Given the description of an element on the screen output the (x, y) to click on. 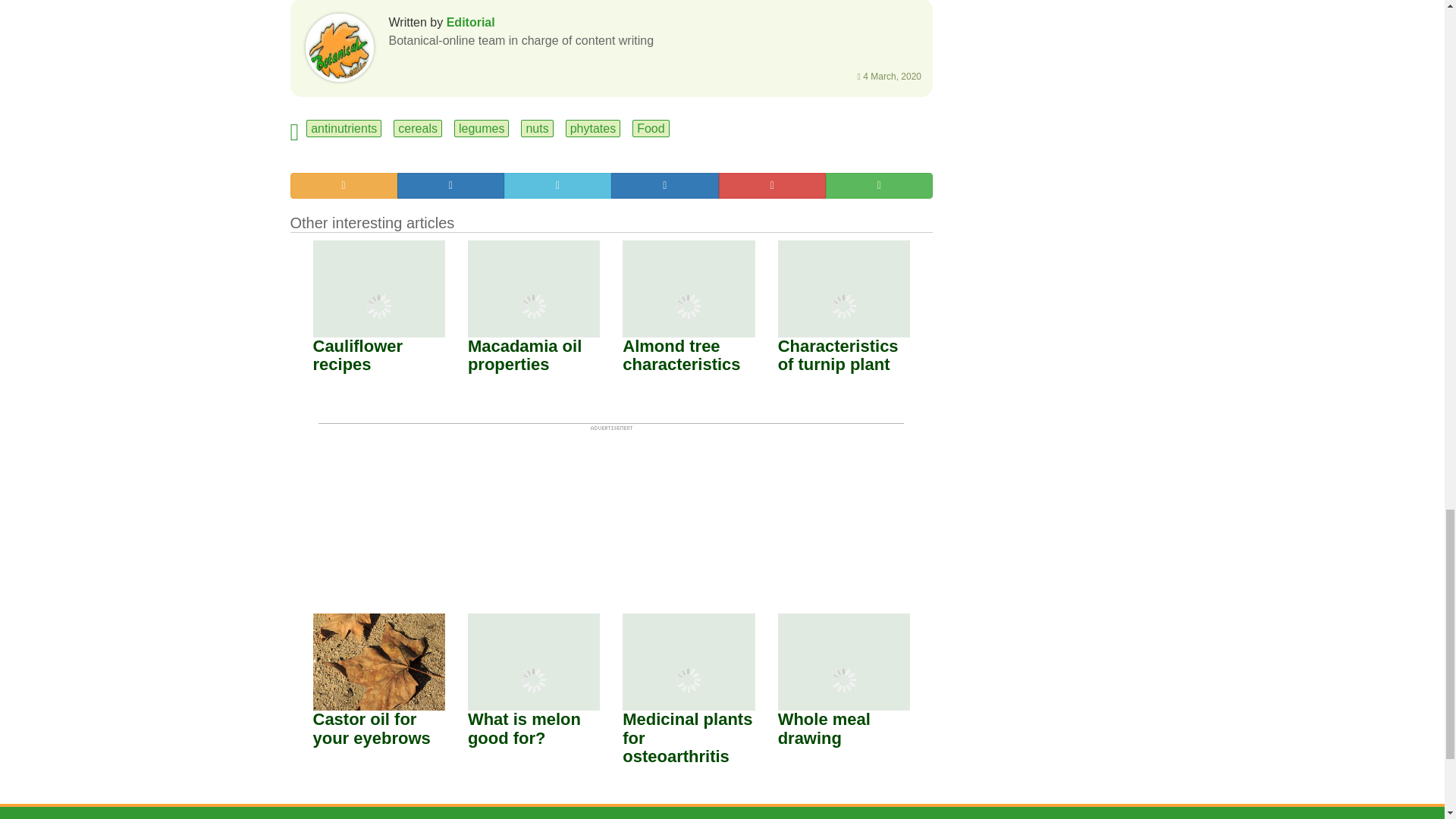
Advertisement (611, 504)
